Given the description of an element on the screen output the (x, y) to click on. 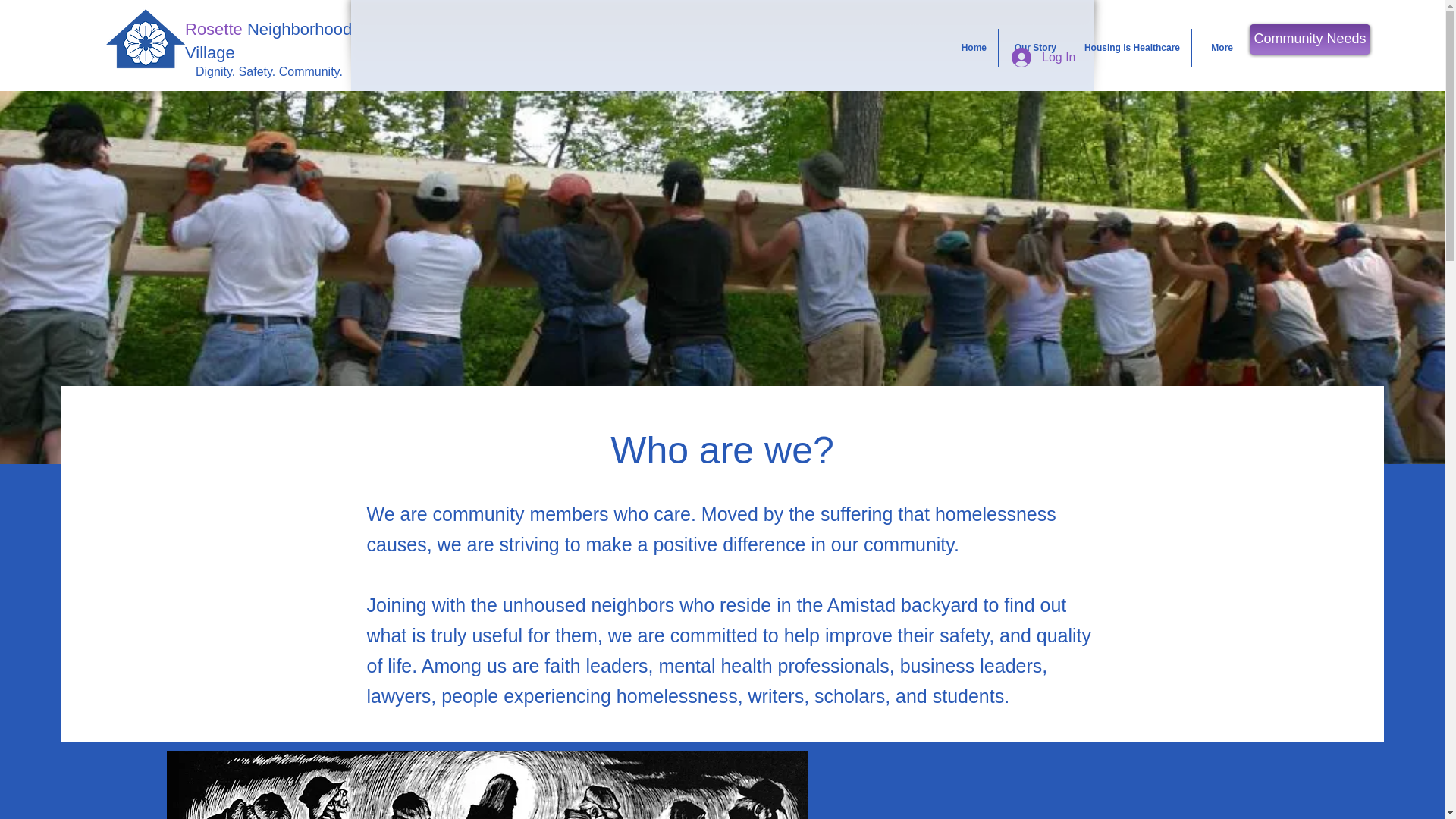
Home (968, 47)
Community Needs (1309, 39)
Our Story (1032, 47)
Housing is Healthcare (1129, 47)
Log In (1043, 57)
Rosette Neighborhood Village (268, 40)
Dignity. Safety. Community. (268, 71)
